Given the description of an element on the screen output the (x, y) to click on. 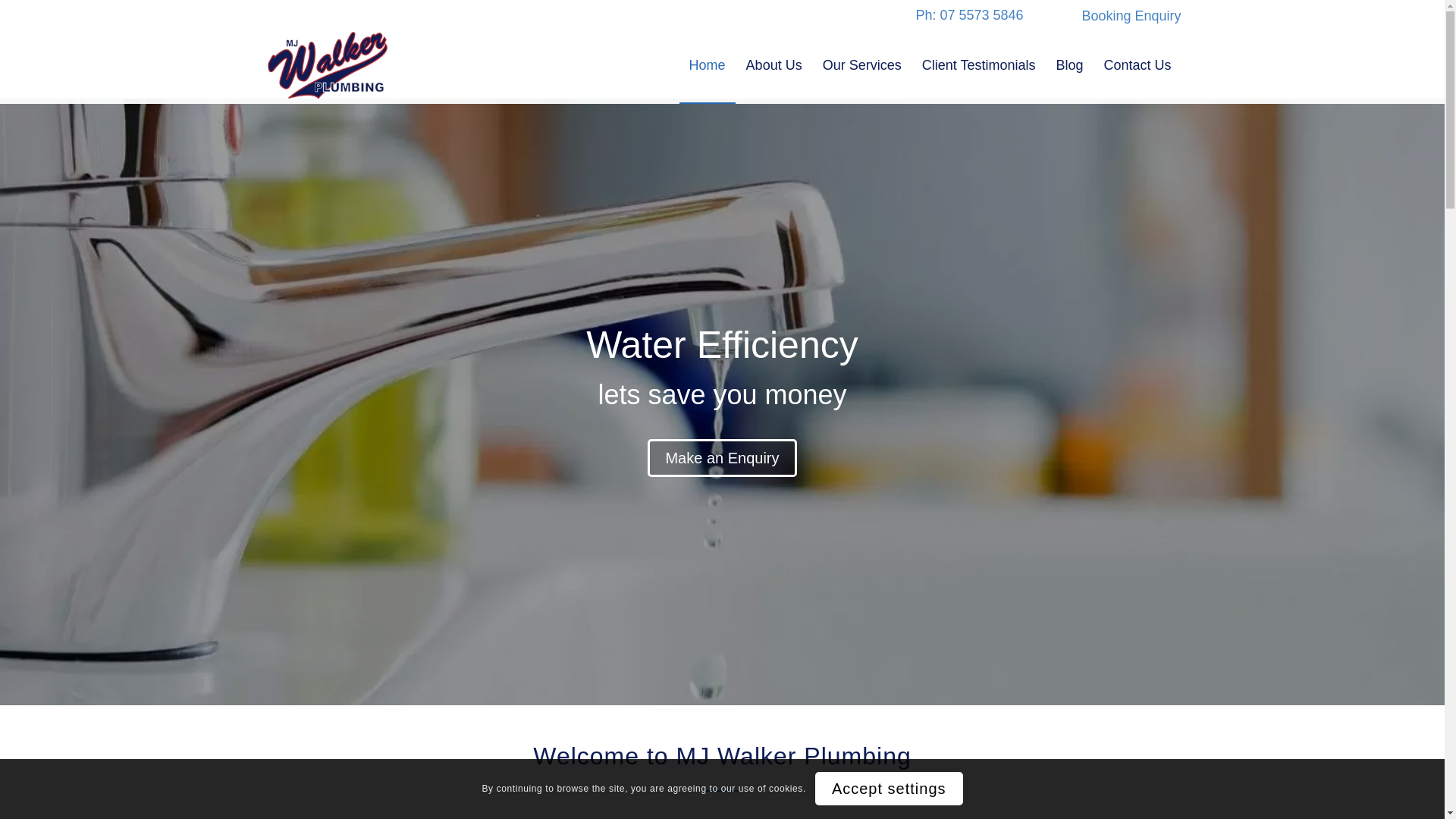
Contact Us Element type: text (1136, 65)
Booking Enquiry Element type: text (1130, 15)
Make an Enquiry Element type: text (721, 456)
Accept settings Element type: text (889, 788)
About Us Element type: text (773, 65)
Blog Element type: text (1068, 65)
Our Services Element type: text (861, 65)
Leaking taps fixed by Gold Coast Plumbers Element type: hover (722, 401)
Client Testimonials Element type: text (978, 65)
Home Element type: text (707, 65)
Ph: 07 5573 5846 Element type: text (968, 14)
MJ Walker Plumbing Logo Element type: hover (327, 65)
